Given the description of an element on the screen output the (x, y) to click on. 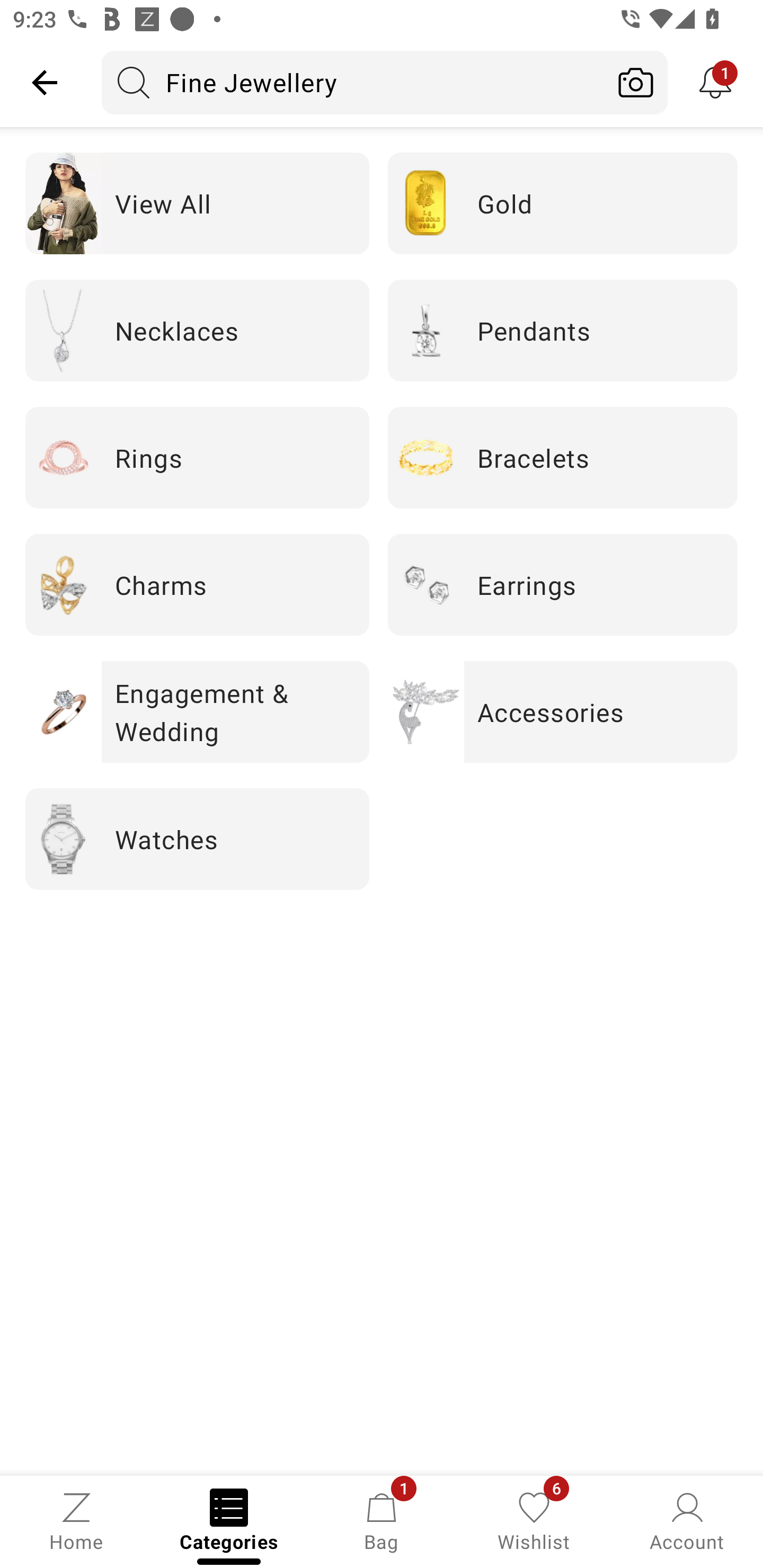
Navigate up (44, 82)
Fine Jewellery (352, 82)
View All (197, 203)
Gold (562, 203)
Necklaces (197, 330)
Pendants (562, 330)
Rings (197, 457)
Bracelets (562, 457)
Charms (197, 584)
Earrings (562, 584)
Engagement & Wedding (197, 711)
Accessories (562, 711)
Watches (197, 839)
Home (76, 1519)
Bag, 1 new notification Bag (381, 1519)
Wishlist, 6 new notifications Wishlist (533, 1519)
Account (686, 1519)
